Given the description of an element on the screen output the (x, y) to click on. 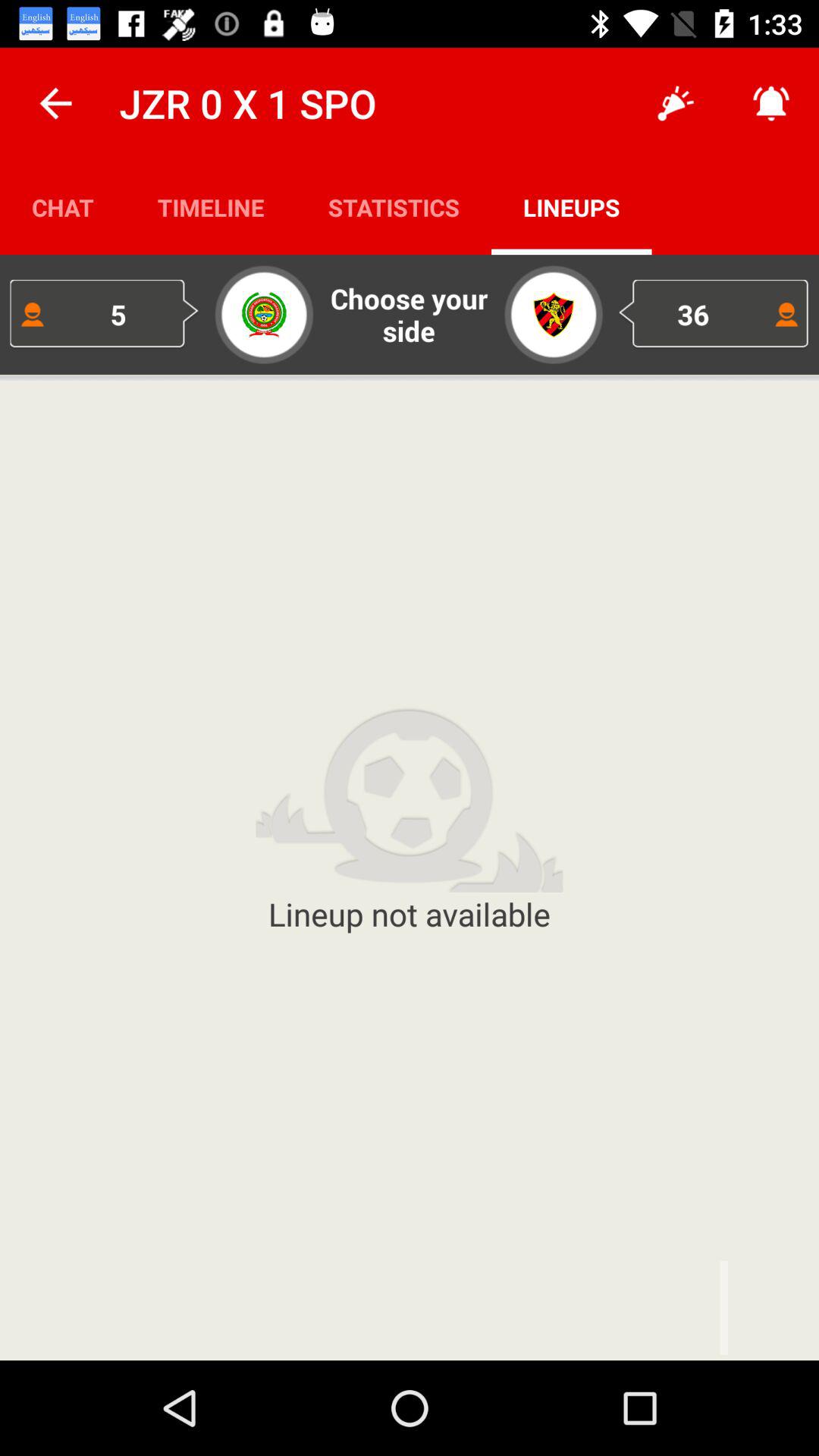
turn off item next to the chat (210, 206)
